Given the description of an element on the screen output the (x, y) to click on. 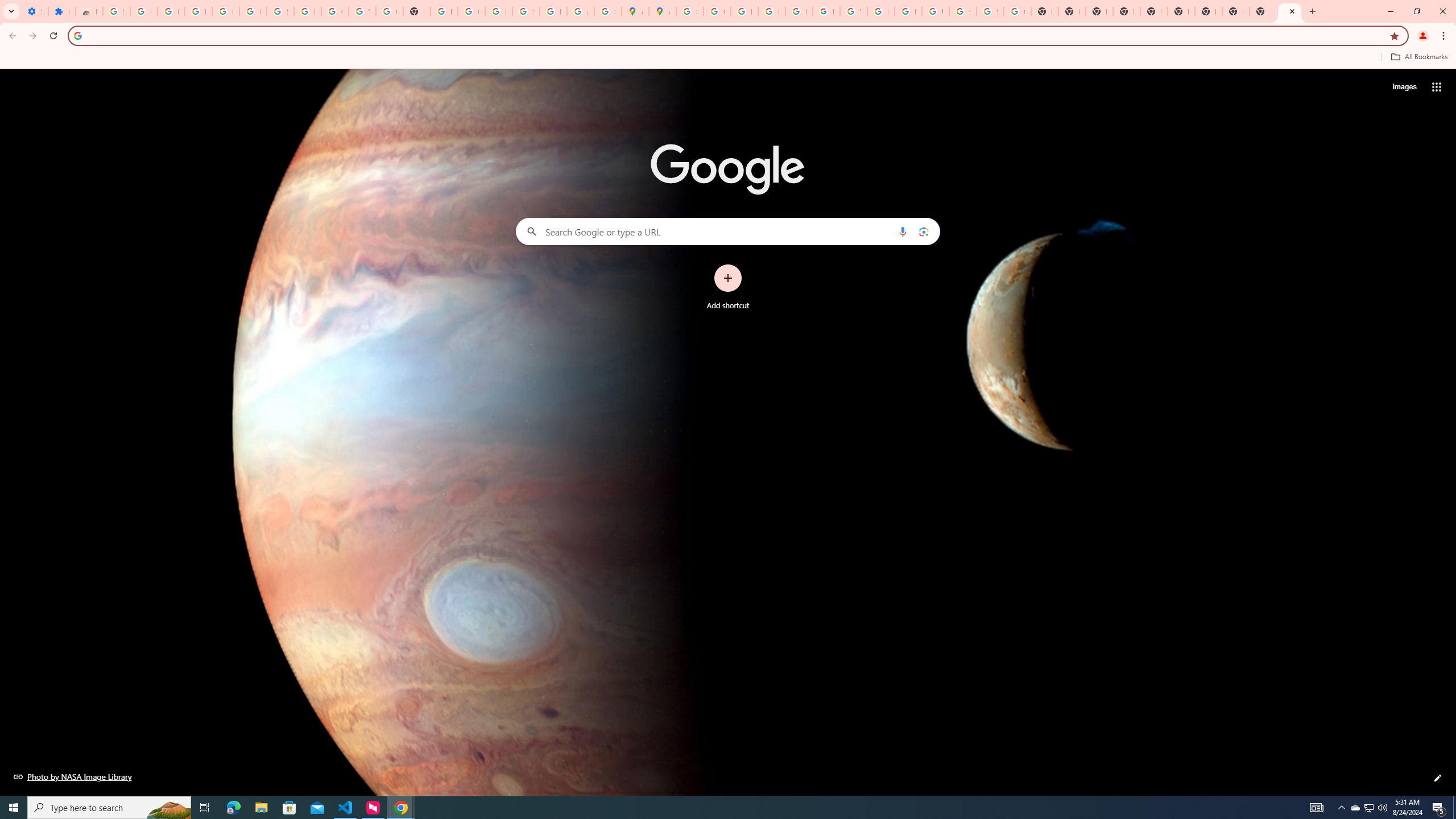
Learn how to find your photos - Google Photos Help (225, 11)
Photo by NASA Image Library (72, 776)
Google Account (334, 11)
Sign in - Google Accounts (280, 11)
Sign in - Google Accounts (690, 11)
Delete photos & videos - Computer - Google Photos Help (197, 11)
